Given the description of an element on the screen output the (x, y) to click on. 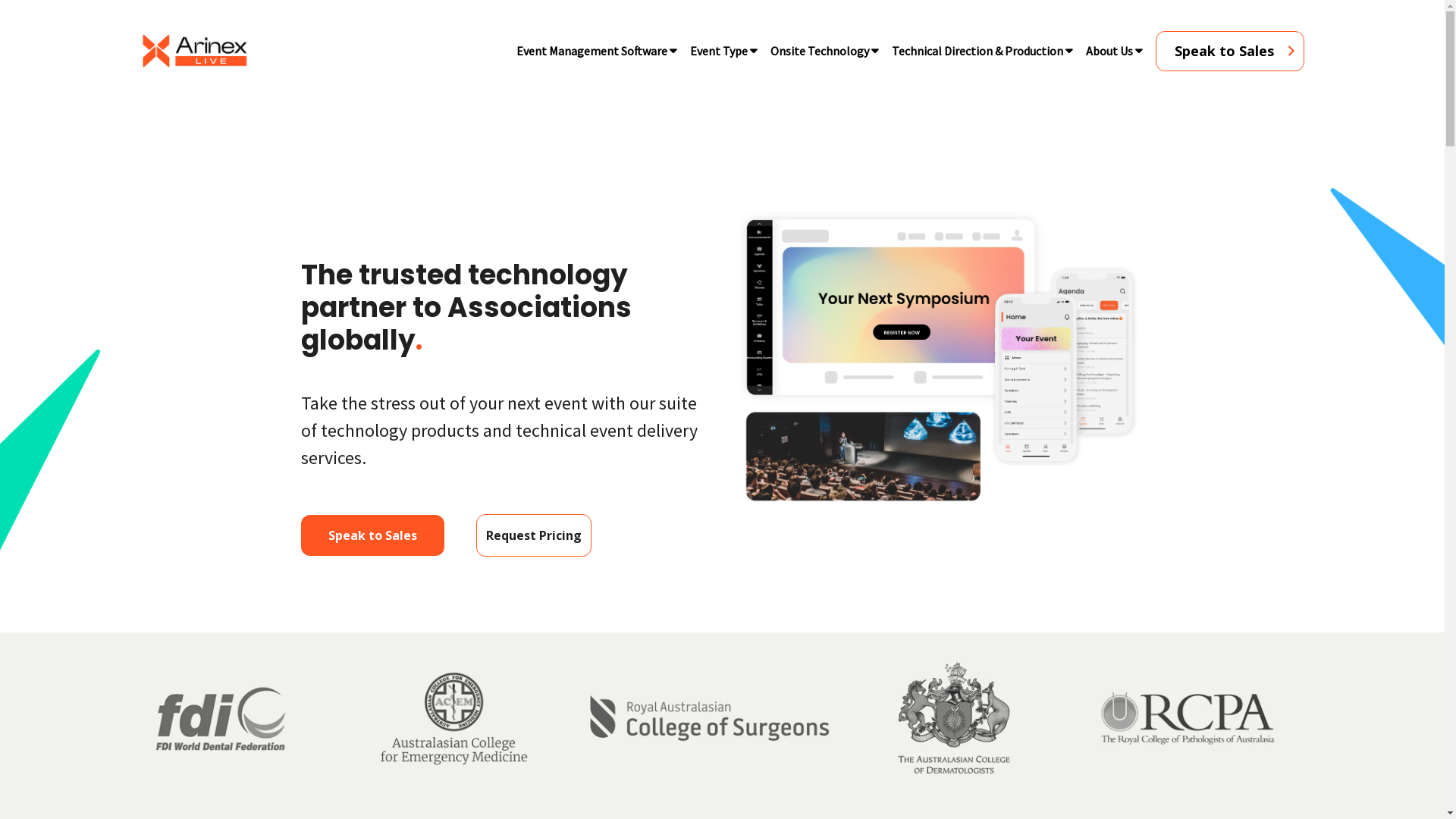
Event Management Software Element type: text (591, 50)
Request Pricing Element type: text (533, 535)
About Us Element type: text (1108, 50)
Event Type Element type: text (717, 50)
Speak to Sales Element type: text (1229, 50)
Technical Direction & Production Element type: text (976, 50)
Speak to Sales Element type: text (372, 534)
Onsite Technology Element type: text (818, 50)
JOYN event technology  Element type: hover (938, 357)
